Given the description of an element on the screen output the (x, y) to click on. 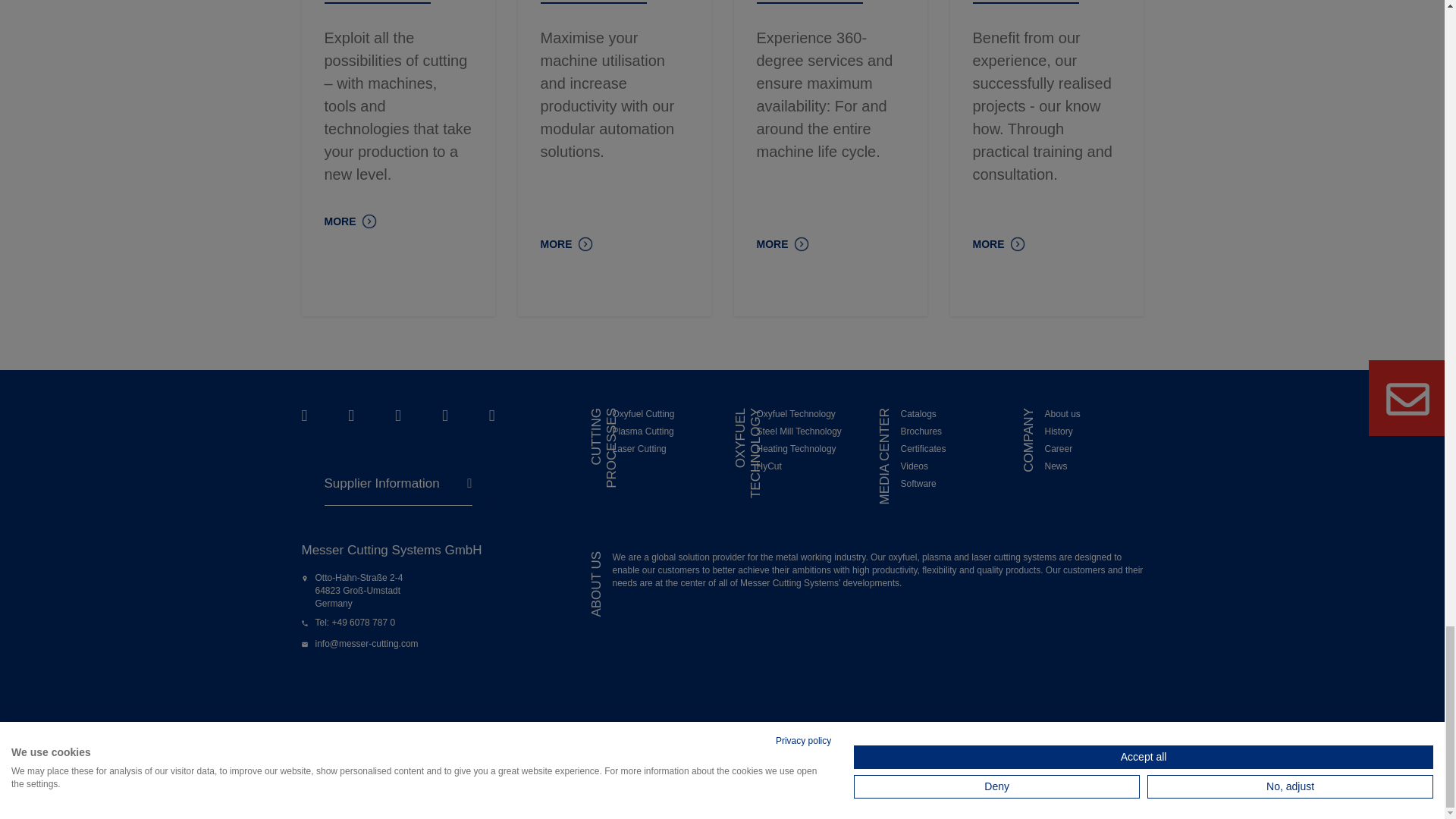
MORE   (783, 242)
MORE   (998, 242)
MORE   (566, 242)
Supplier Information (397, 482)
MORE   (350, 219)
